Given the description of an element on the screen output the (x, y) to click on. 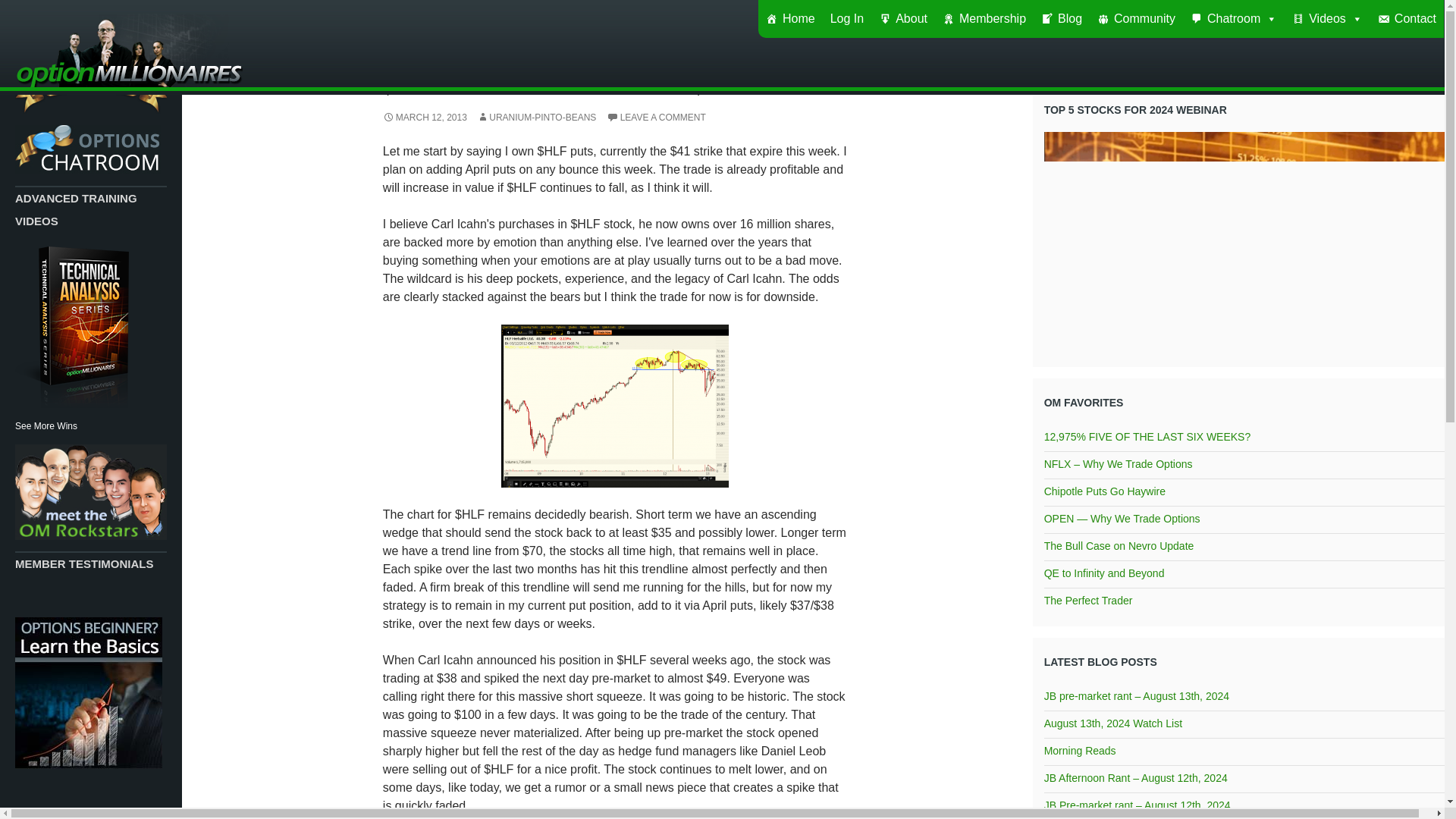
Blog (1061, 18)
Enter the Chatroom (87, 148)
Membership (983, 18)
Log In (846, 18)
Home (790, 18)
About (902, 18)
